Given the description of an element on the screen output the (x, y) to click on. 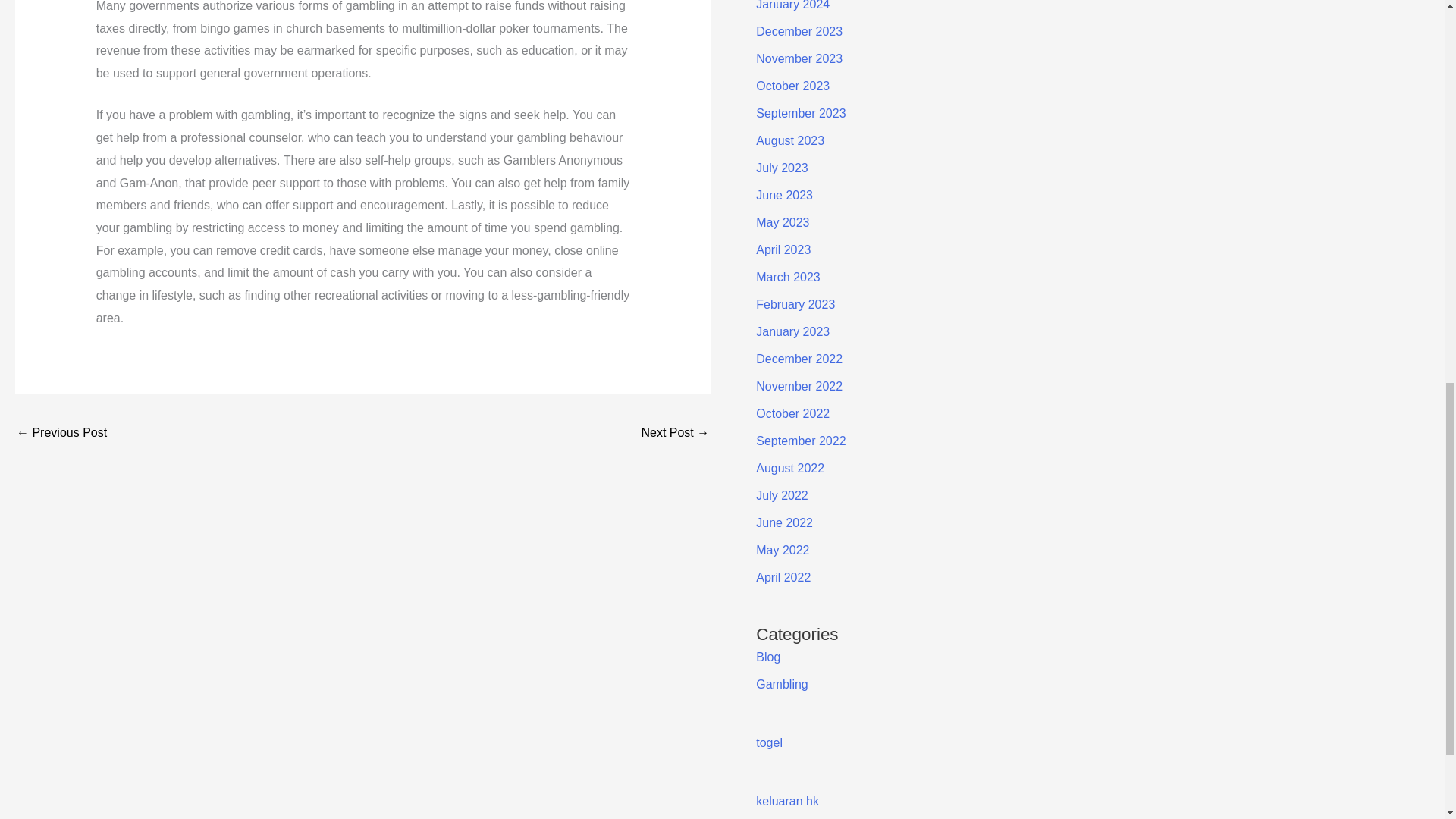
July 2023 (781, 167)
September 2023 (800, 113)
October 2023 (792, 85)
November 2023 (799, 58)
November 2022 (799, 386)
October 2022 (792, 413)
January 2024 (792, 5)
August 2023 (789, 140)
June 2023 (783, 195)
December 2023 (799, 31)
May 2023 (782, 222)
April 2023 (782, 249)
December 2022 (799, 358)
March 2023 (788, 277)
